Given the description of an element on the screen output the (x, y) to click on. 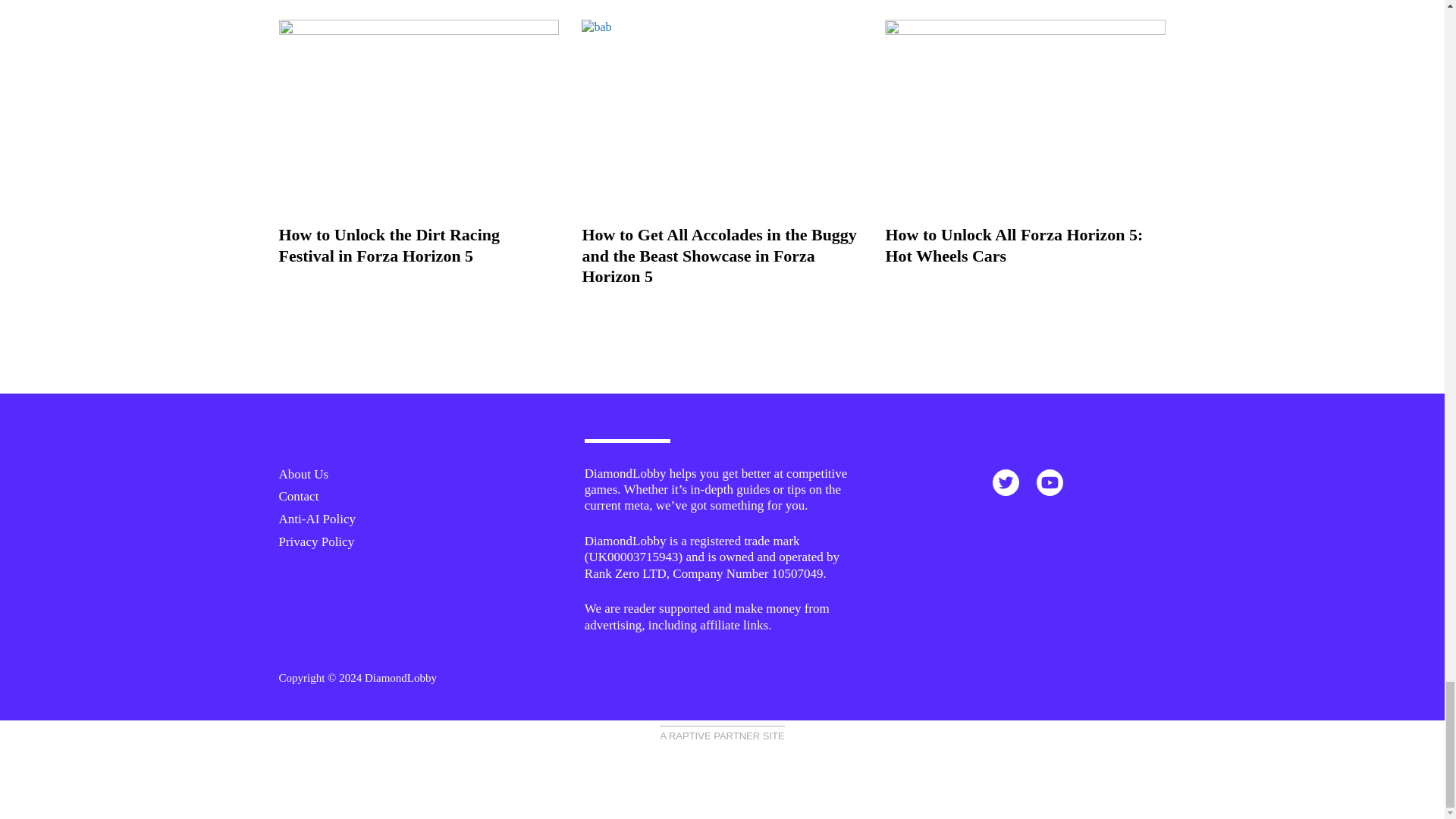
How to Unlock the Dirt Racing Festival in Forza Horizon 5 (389, 245)
How to Unlock All Forza Horizon 5: Hot Wheels Cars (1013, 245)
About Us (304, 473)
Contact (298, 495)
